Given the description of an element on the screen output the (x, y) to click on. 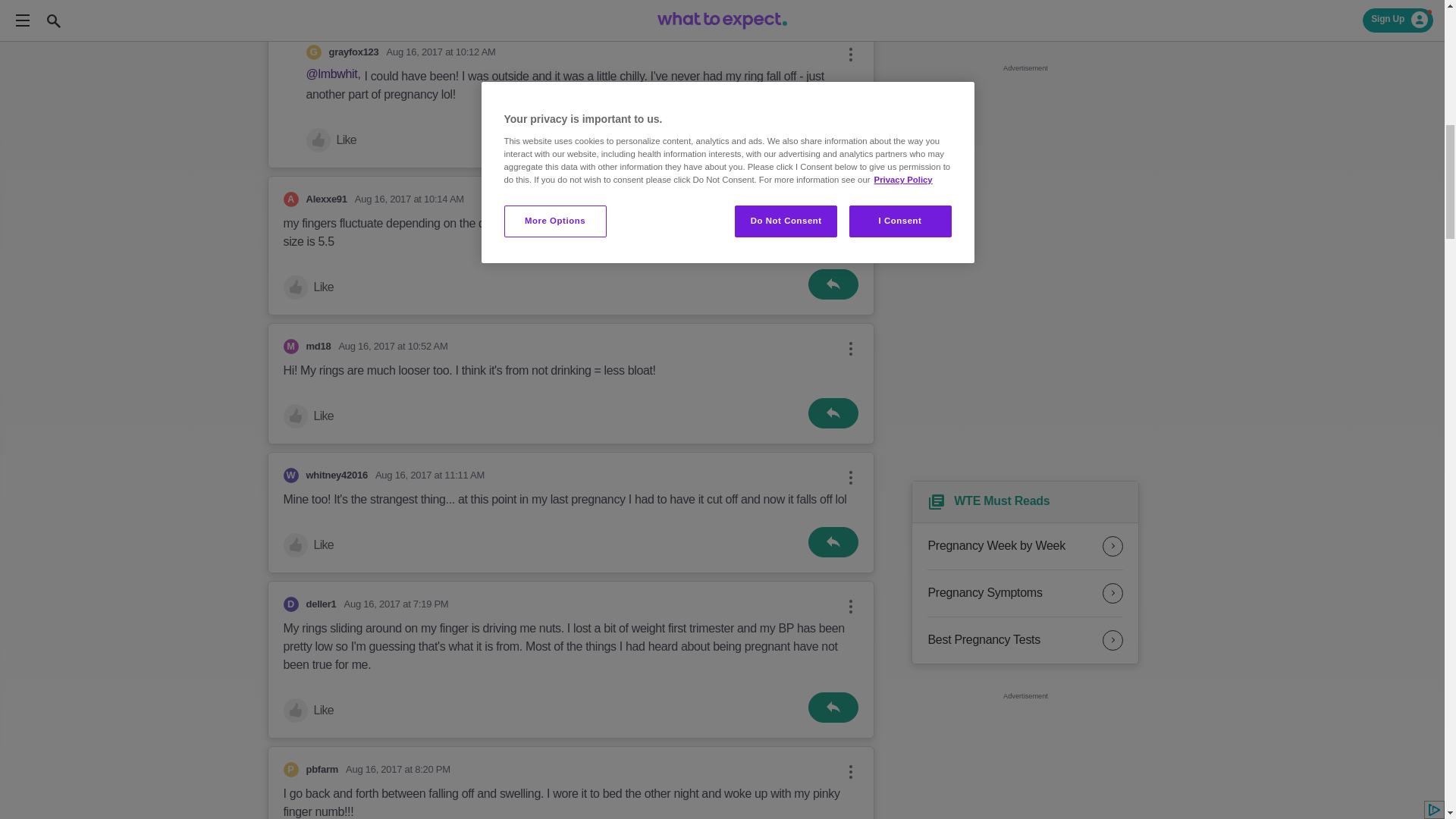
Pregnancy Symptoms (1024, 593)
Pregnancy Week by Week (1024, 546)
Best Pregnancy Tests (1024, 640)
